Given the description of an element on the screen output the (x, y) to click on. 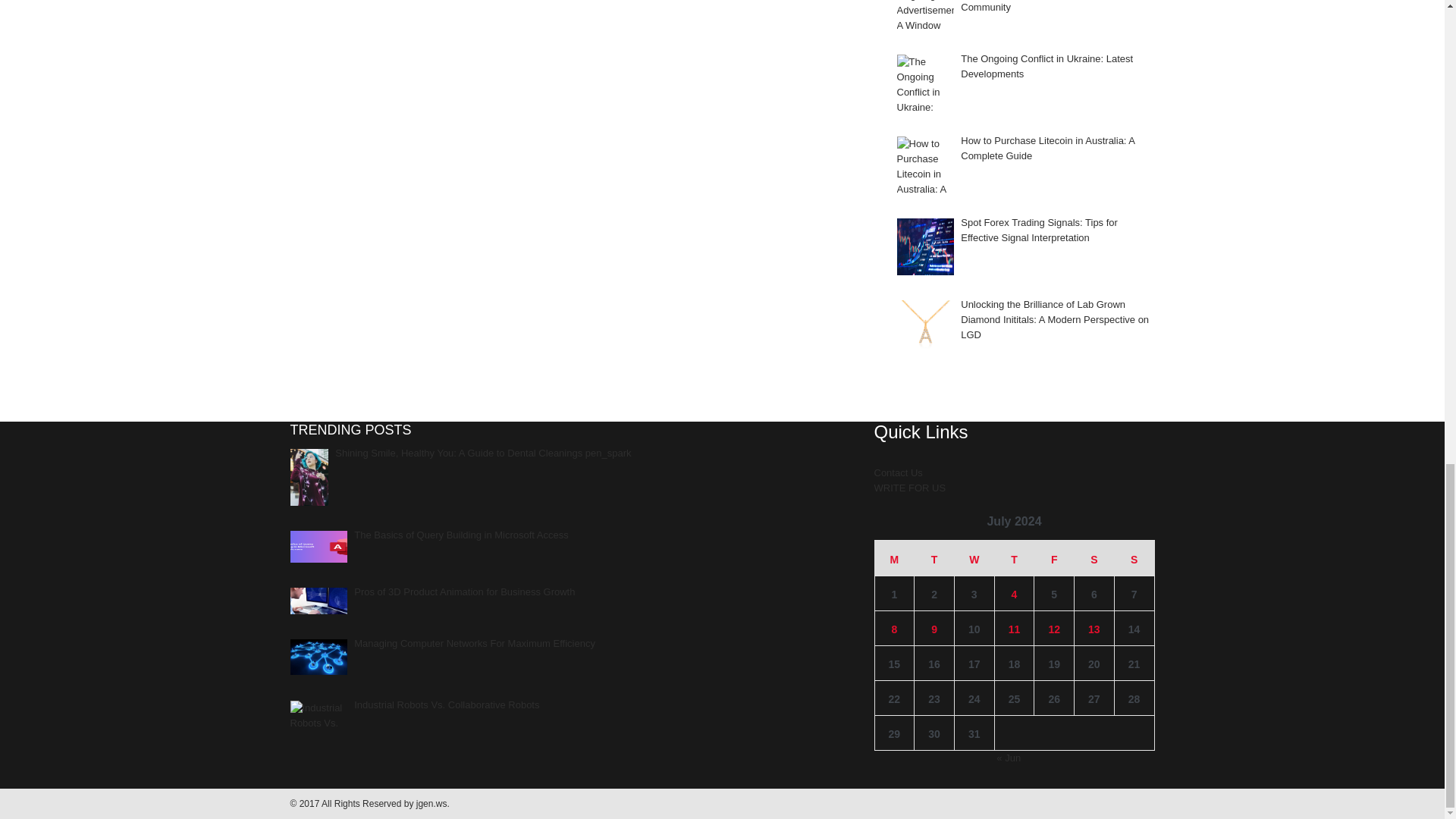
Managing Computer Networks For Maximum Efficiency (317, 656)
lab grown diamond inititals (924, 328)
Industrial Robots Vs. Collaborative Robots (317, 715)
Pros of 3D Product Animation for Business Growth (317, 601)
The Ongoing Conflict in Ukraine: Latest Developments (924, 82)
How to Purchase Litecoin in Australia: A Complete Guide (924, 164)
The Basics of Query Building in Microsoft Access (317, 546)
